Given the description of an element on the screen output the (x, y) to click on. 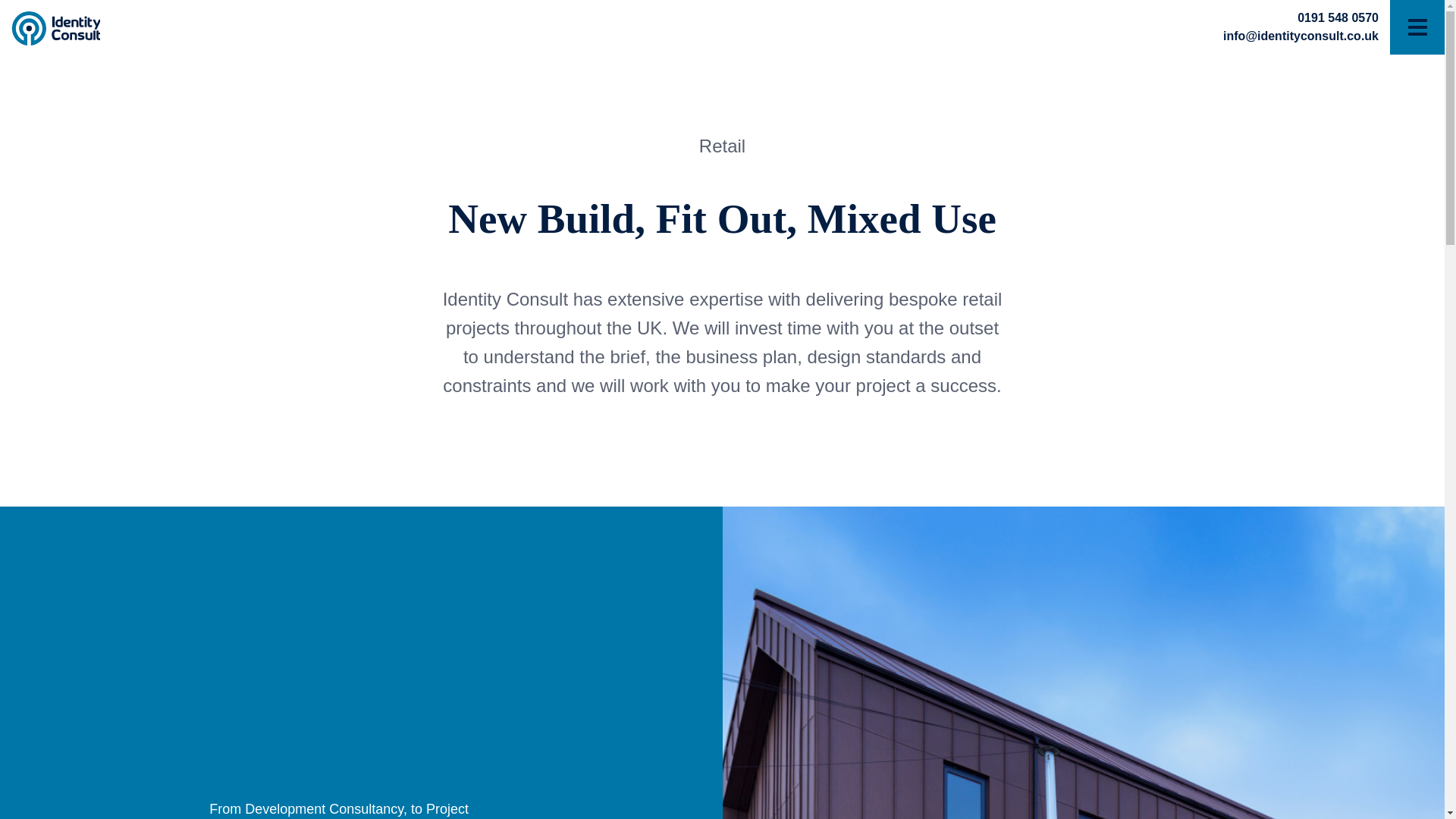
0191 548 0570 (1337, 18)
Go to home (81, 28)
Identity Consult logo (55, 28)
